Given the description of an element on the screen output the (x, y) to click on. 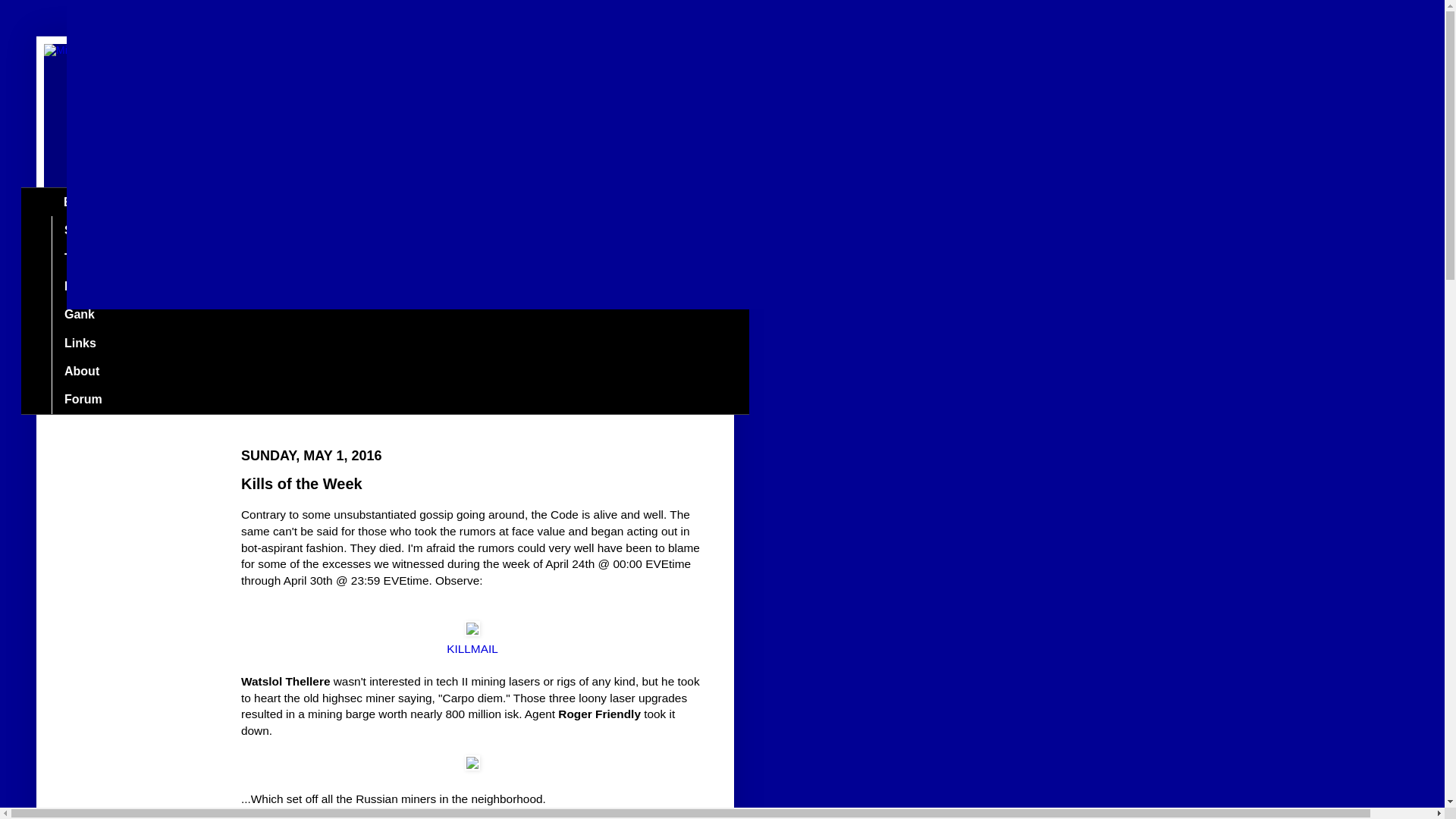
Links (78, 343)
The Code (91, 257)
KILLMAIL (471, 648)
About (81, 370)
Shareholders (102, 230)
BLOG (80, 202)
Gank (78, 315)
Forum (82, 398)
Become an Agent (114, 286)
